Given the description of an element on the screen output the (x, y) to click on. 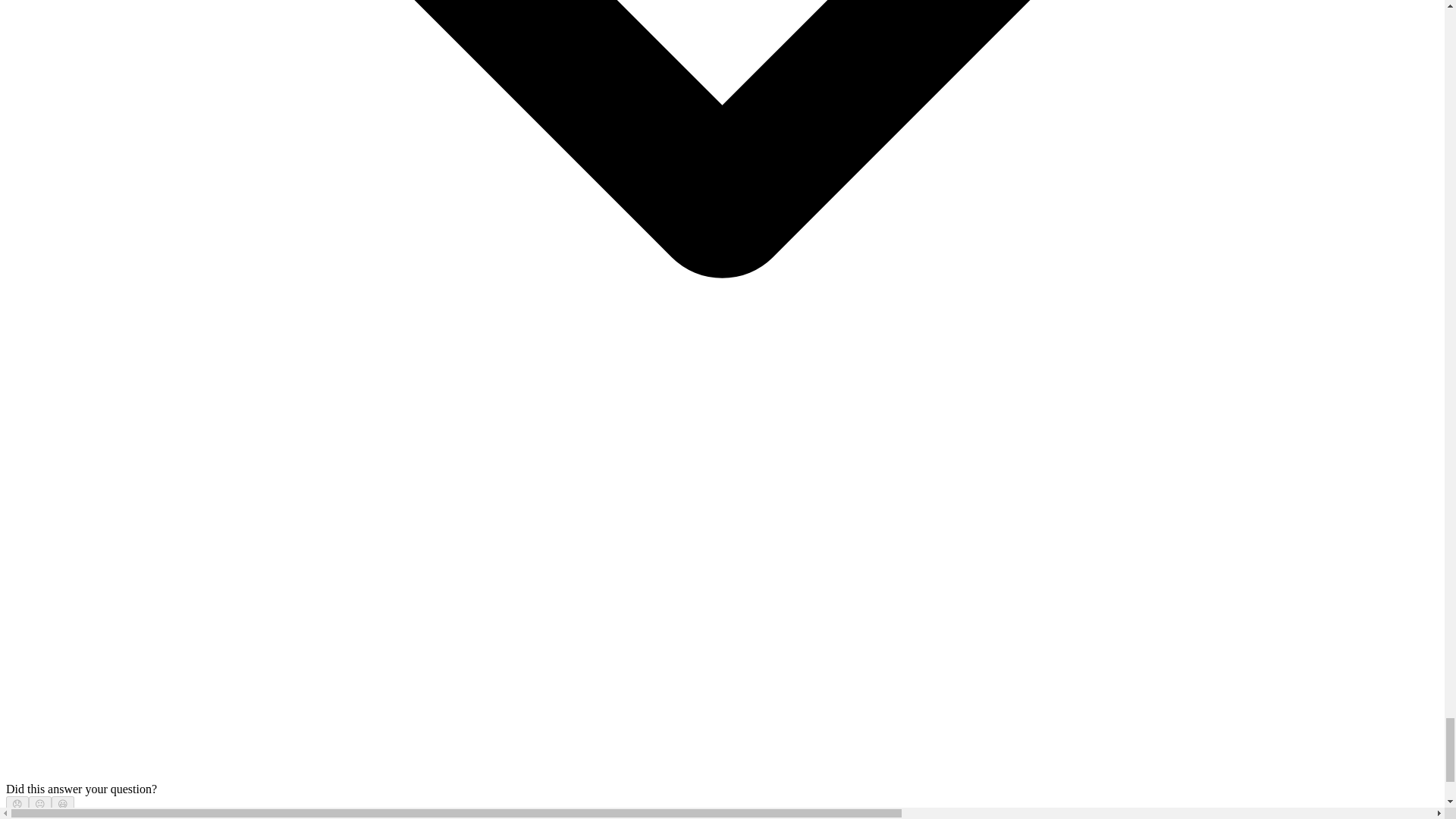
Neutral (39, 803)
Disappointed (17, 803)
Smiley (63, 803)
AgencyAnalytics Knowledge Base (90, 815)
